Given the description of an element on the screen output the (x, y) to click on. 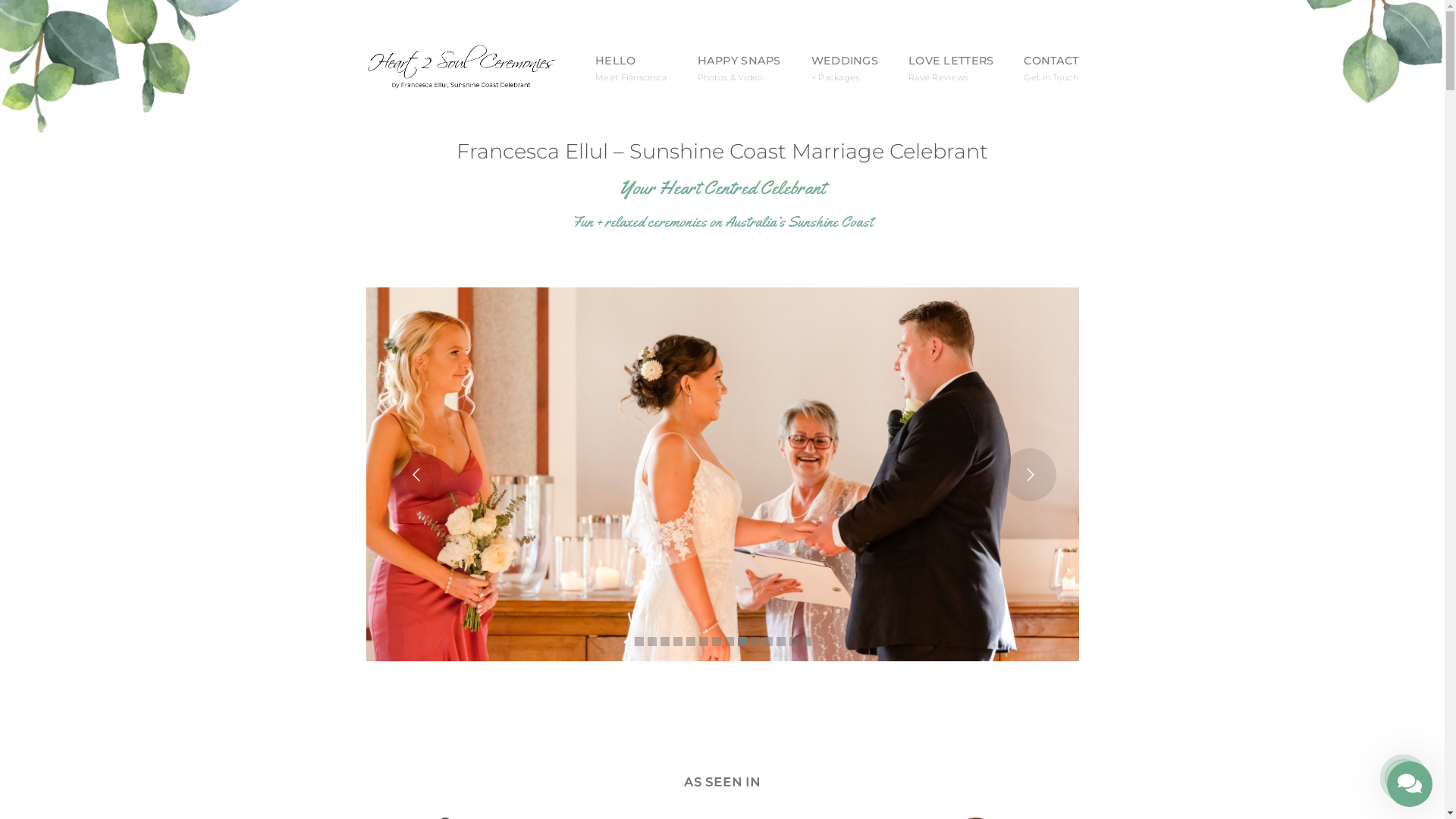
HELLO
Meet Franscesca Element type: text (630, 68)
LOVE LETTERS
Rave Reviews Element type: text (950, 68)
HAPPY SNAPS
Photos & Video Element type: text (739, 68)
WEDDINGS
+ Packages Element type: text (844, 68)
CONTACT
Get In Touch Element type: text (1050, 68)
